Given the description of an element on the screen output the (x, y) to click on. 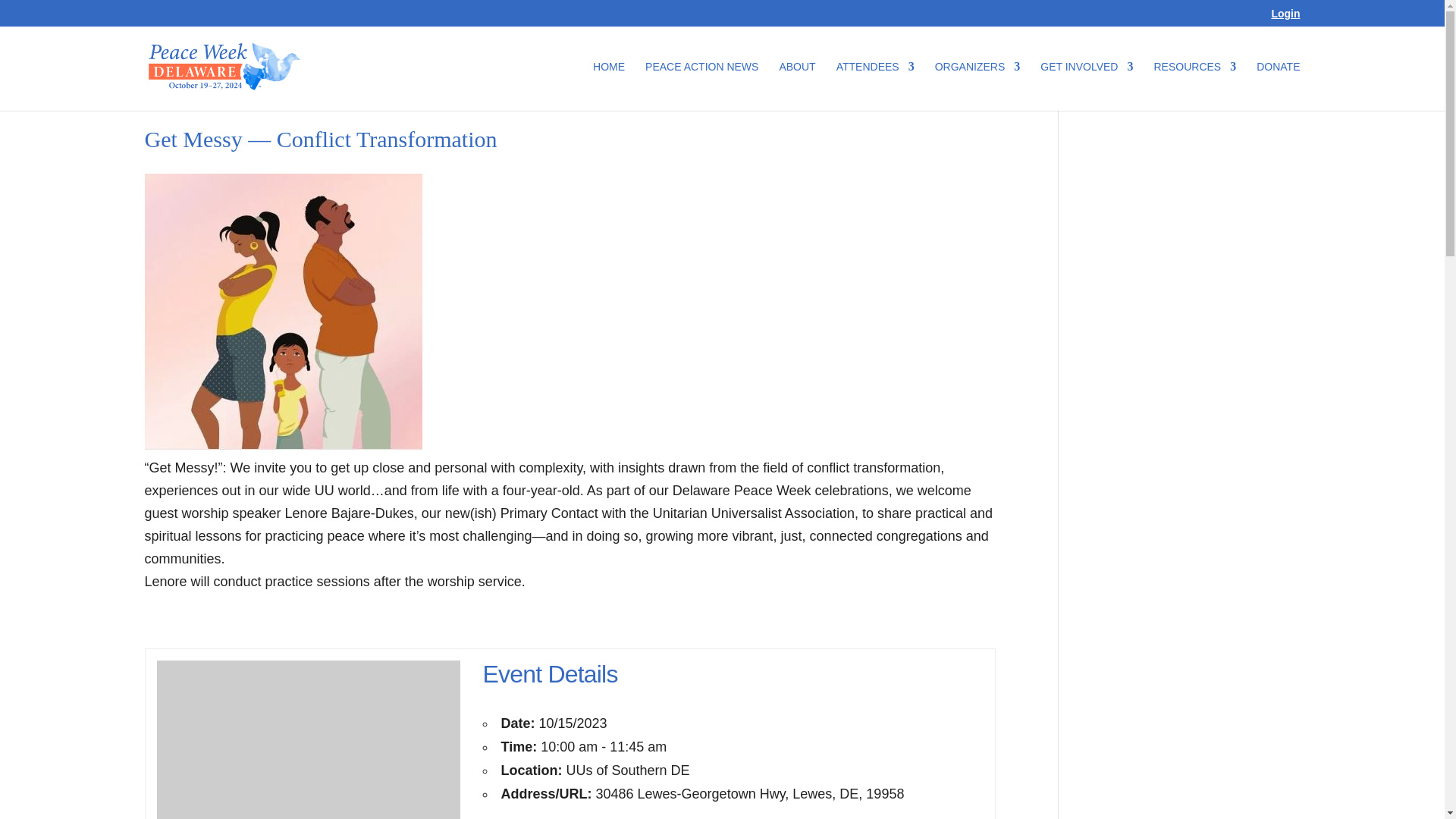
GET INVOLVED (1086, 85)
Login (1285, 16)
RESOURCES (1194, 85)
ORGANIZERS (977, 85)
PEACE ACTION NEWS (701, 85)
ATTENDEES (874, 85)
